Given the description of an element on the screen output the (x, y) to click on. 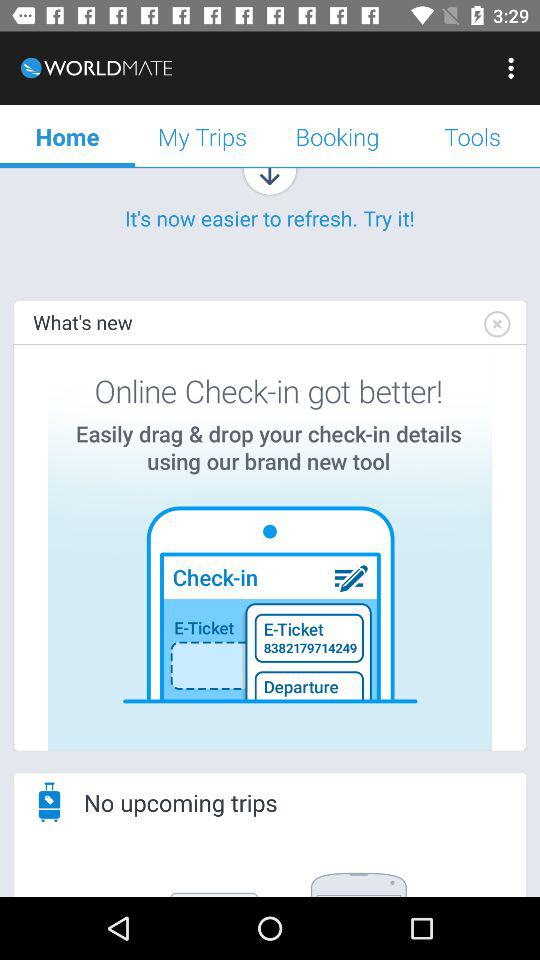
flip until my trips app (202, 136)
